Given the description of an element on the screen output the (x, y) to click on. 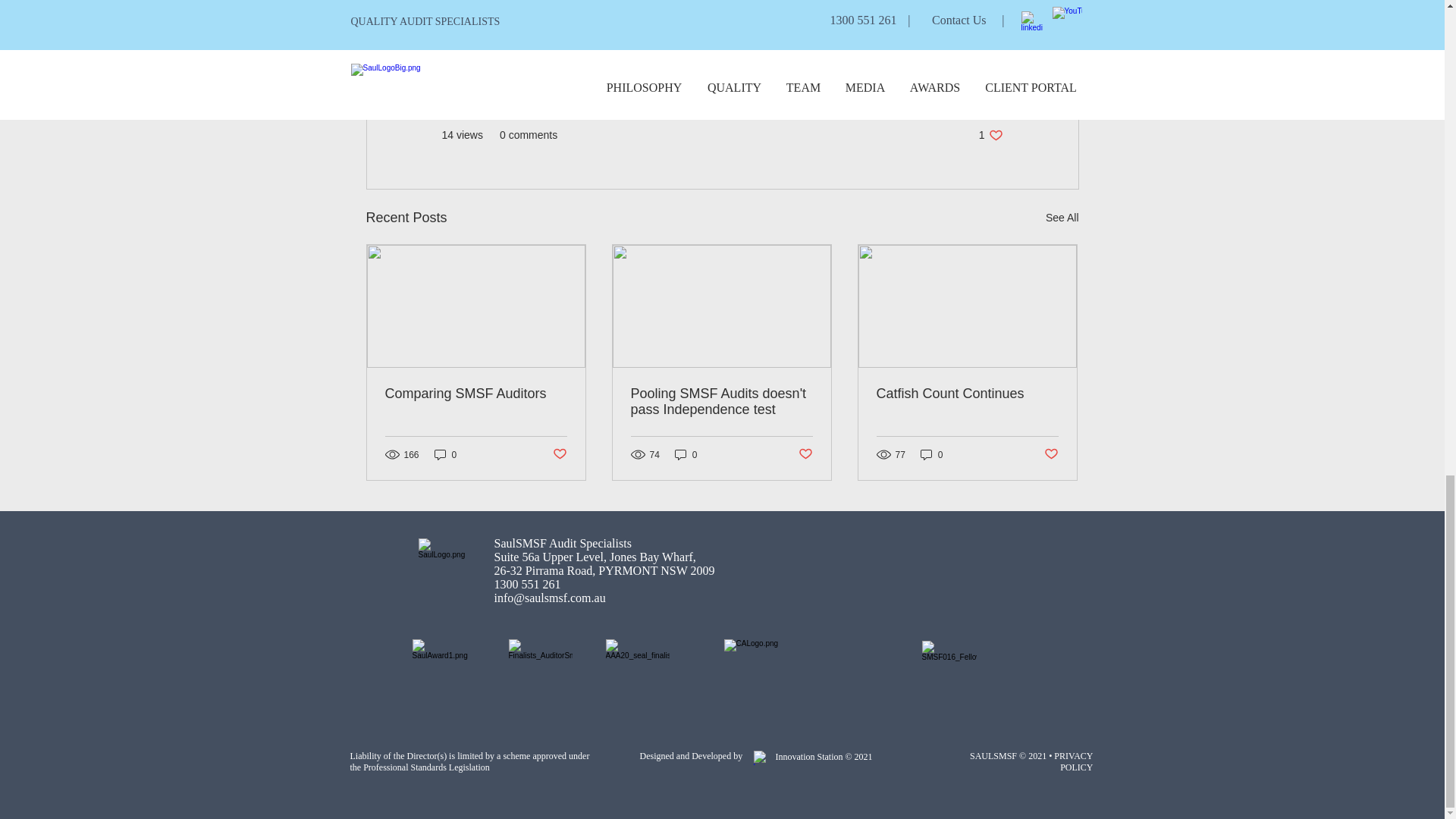
Pooling SMSF Audits doesn't pass Independence test (721, 401)
Catfish Count Continues (990, 134)
Comparing SMSF Auditors (967, 393)
0 (476, 393)
Post not marked as liked (445, 454)
Post not marked as liked (1050, 454)
Post not marked as liked (558, 454)
1300 551 261 (804, 454)
